Given the description of an element on the screen output the (x, y) to click on. 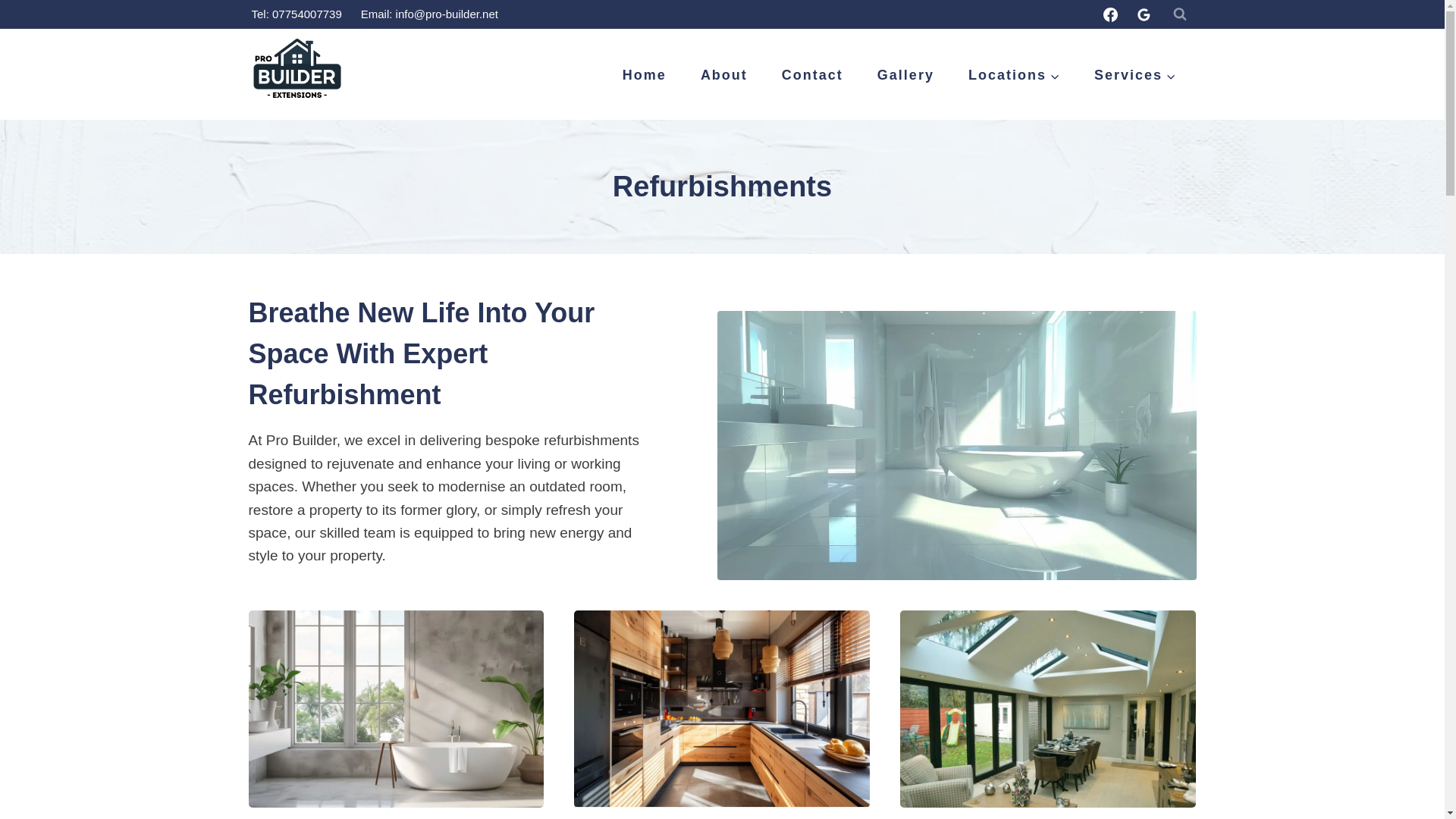
About (723, 76)
Locations (1013, 76)
Gallery (905, 76)
Home (643, 76)
Contact (812, 76)
